Given the description of an element on the screen output the (x, y) to click on. 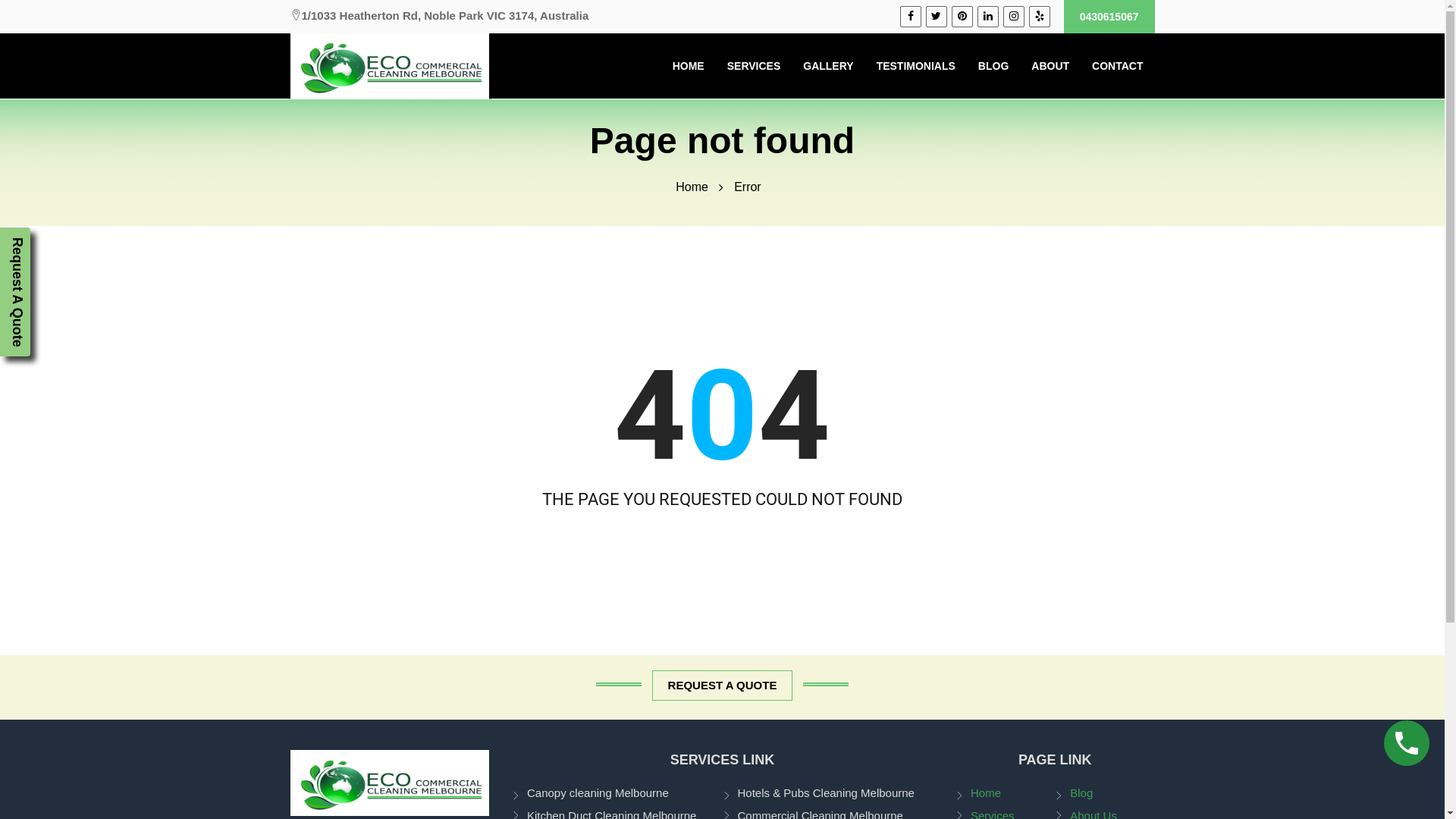
Request A Quote Element type: text (15, 291)
BLOG Element type: text (993, 65)
0430615067 Element type: text (1108, 16)
Blog Element type: text (1104, 793)
TESTIMONIALS Element type: text (915, 65)
GALLERY Element type: text (828, 65)
1/1033 Heatherton Rd, Noble Park VIC 3174, Australia Element type: text (438, 15)
REQUEST A QUOTE Element type: text (722, 685)
SERVICES Element type: text (754, 65)
CONTACT Element type: text (1117, 65)
Home Element type: text (691, 186)
HOME Element type: text (688, 65)
ABOUT Element type: text (1050, 65)
Hotels & Pubs Cleaning Melbourne Element type: text (826, 793)
Home Element type: text (1004, 793)
Canopy cleaning Melbourne Element type: text (616, 793)
